Given the description of an element on the screen output the (x, y) to click on. 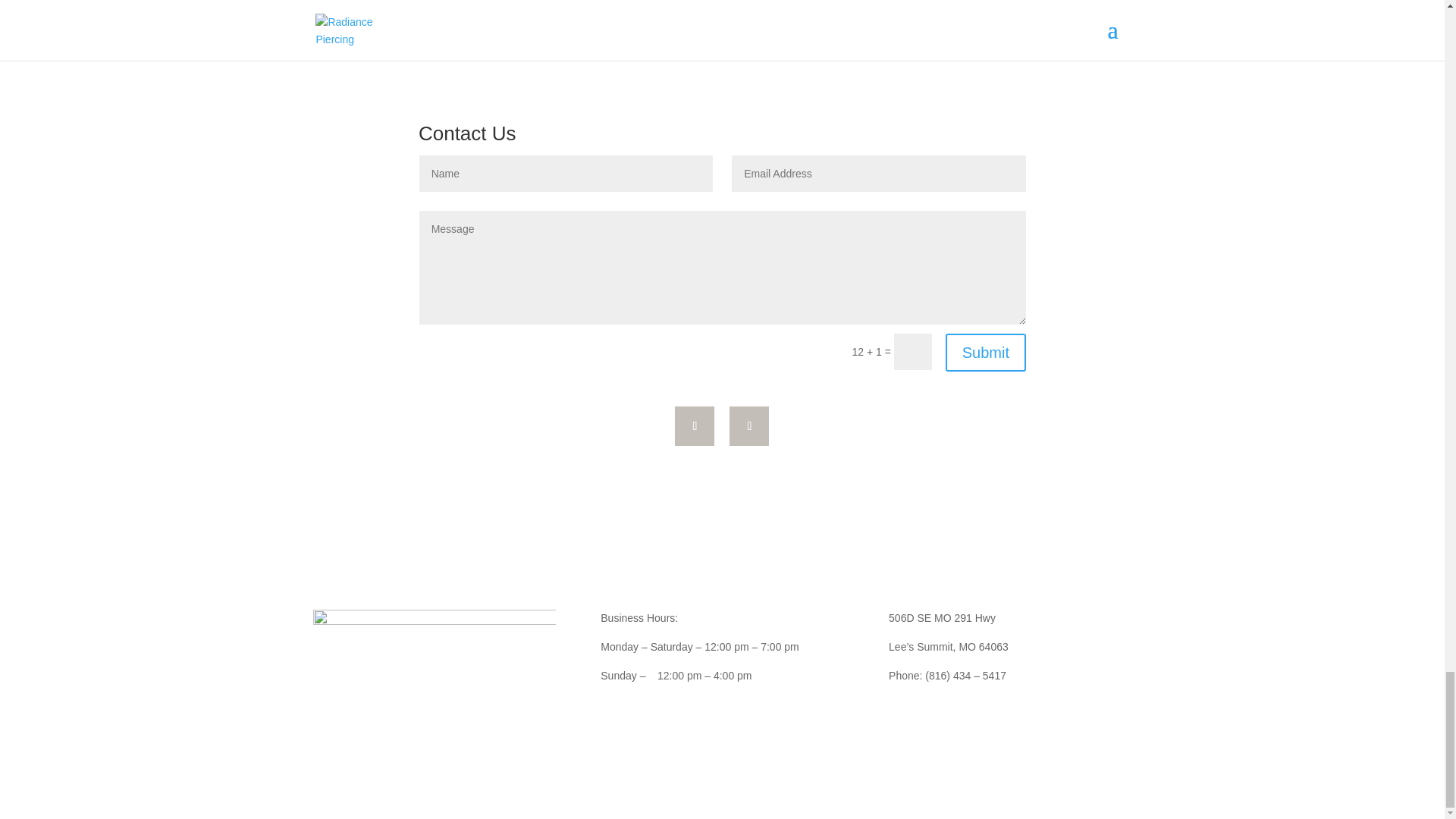
applogo (433, 683)
Follow on Instagram (748, 425)
Follow on Facebook (694, 425)
Submit (985, 352)
